Given the description of an element on the screen output the (x, y) to click on. 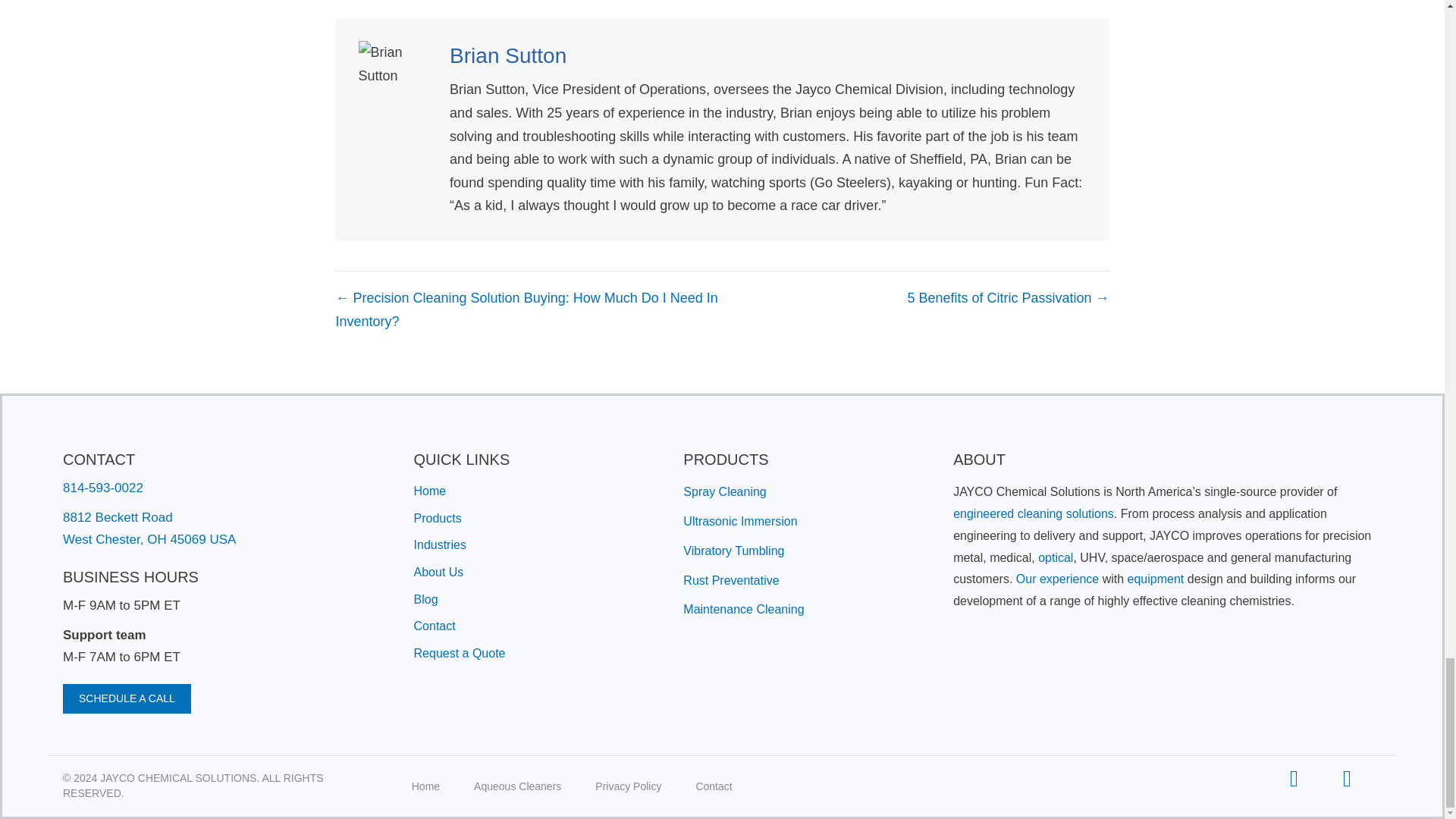
Products (437, 517)
West Chester, OH 45069 USA (148, 539)
LinkedIn (1293, 778)
8812 Beckett Road (117, 517)
Facebook (1346, 778)
814-593-0022 (102, 487)
Home (429, 490)
SCHEDULE A CALL (126, 698)
